Given the description of an element on the screen output the (x, y) to click on. 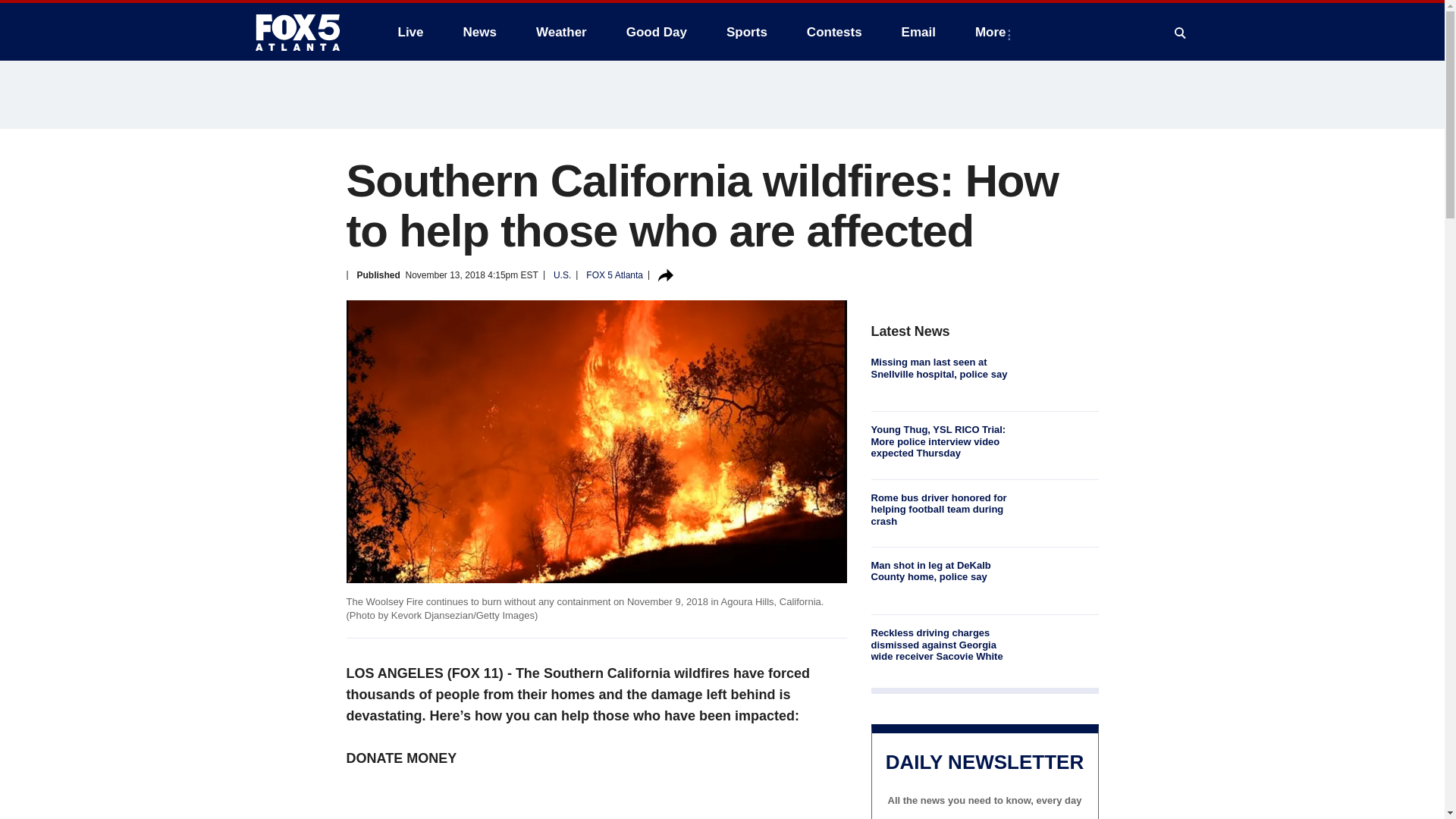
Good Day (656, 32)
News (479, 32)
Contests (834, 32)
Weather (561, 32)
Sports (746, 32)
Live (410, 32)
More (993, 32)
Email (918, 32)
